Given the description of an element on the screen output the (x, y) to click on. 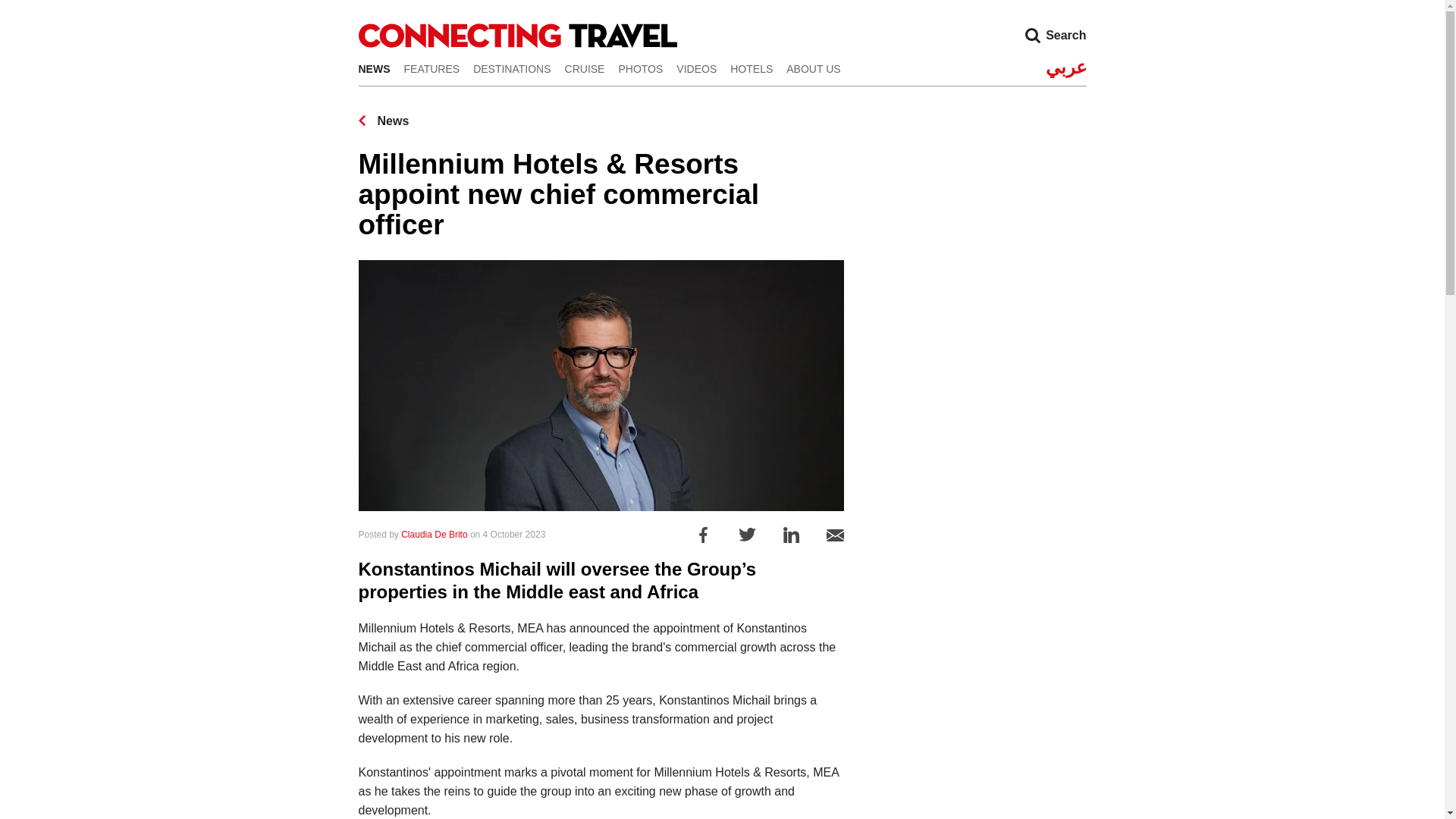
Share by email (835, 534)
VIDEOS (696, 68)
DESTINATIONS (511, 68)
News (383, 121)
Hotels (751, 68)
Share on Twitter (746, 534)
PHOTOS (639, 68)
CRUISE (584, 68)
Claudia De Brito (434, 534)
HOTELS (751, 68)
FEATURES (431, 68)
NEWS (374, 68)
ABOUT US (813, 68)
Share on Facebook (702, 534)
